Given the description of an element on the screen output the (x, y) to click on. 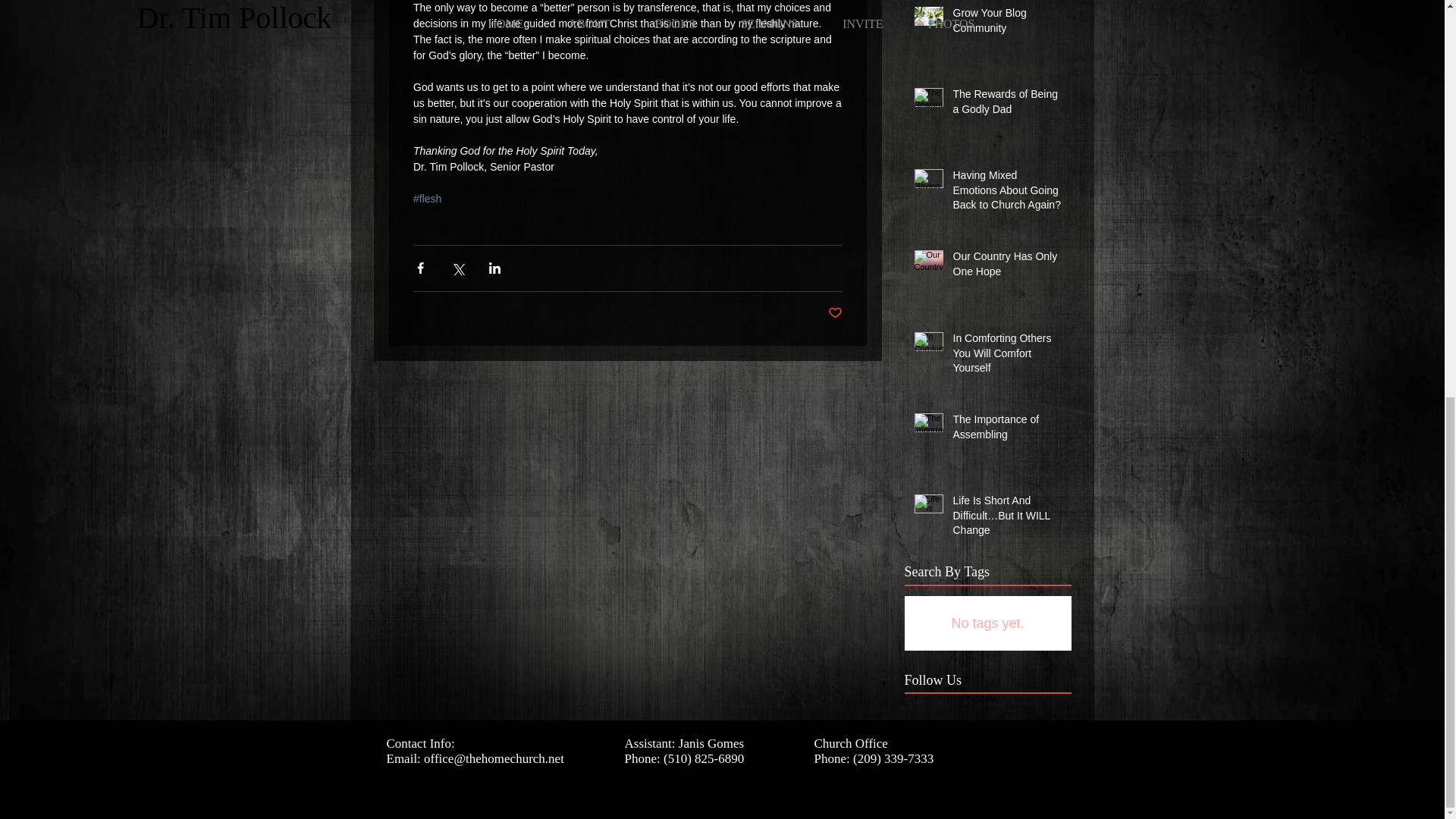
The Rewards of Being a Godly Dad (1006, 104)
Post not marked as liked (835, 313)
The Importance of Assembling (1006, 429)
Grow Your Blog Community (1006, 23)
Our Country Has Only One Hope (1006, 267)
Having Mixed Emotions About Going Back to Church Again? (1006, 193)
In Comforting Others You Will Comfort Yourself (1006, 356)
